Given the description of an element on the screen output the (x, y) to click on. 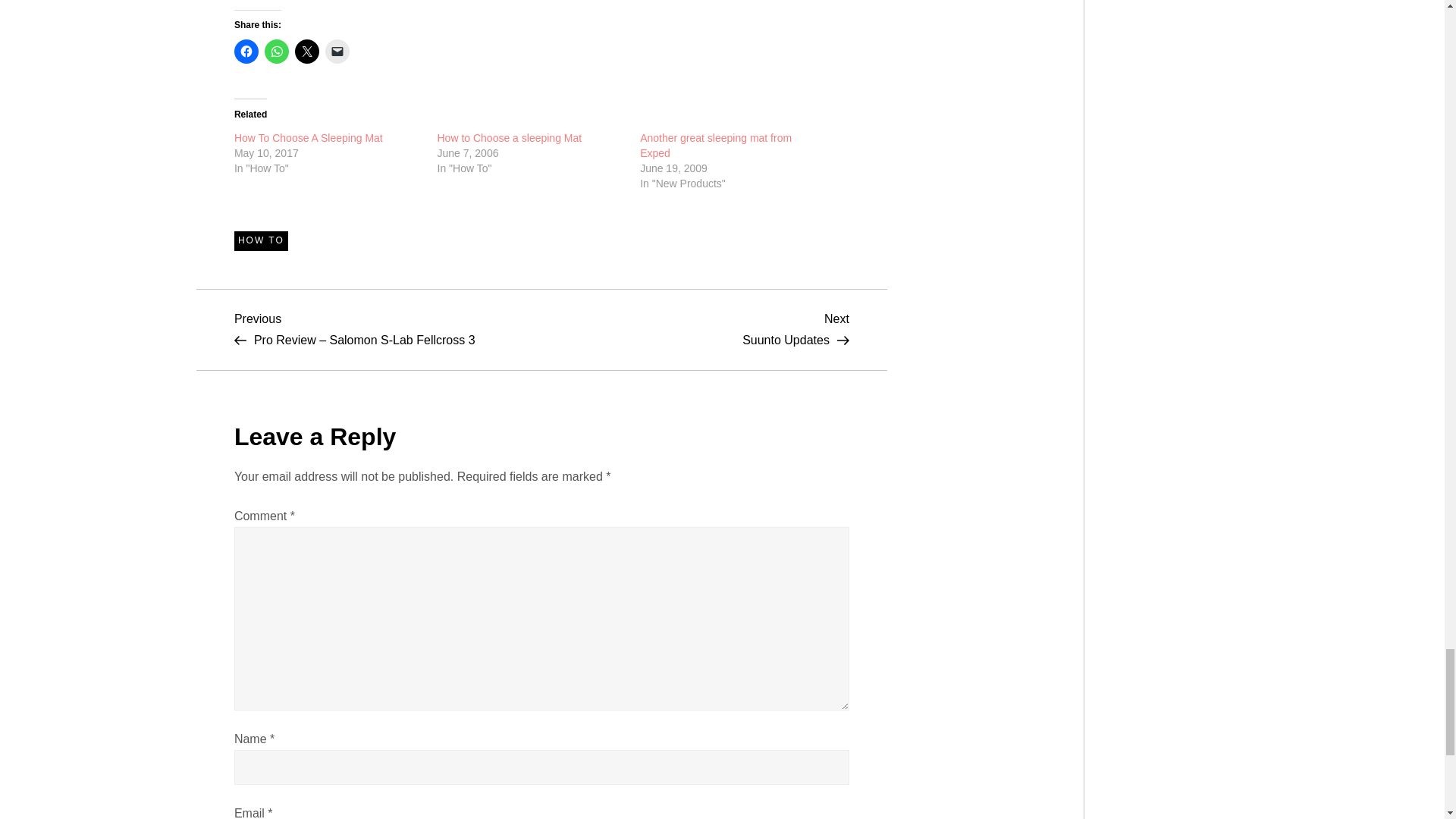
Click to email a link to a friend (336, 51)
How To Choose A Sleeping Mat (308, 137)
Click to share on WhatsApp (276, 51)
Click to share on Facebook (246, 51)
How to Choose a sleeping Mat (508, 137)
Click to share on X (306, 51)
Another great sleeping mat from Exped (716, 144)
